Given the description of an element on the screen output the (x, y) to click on. 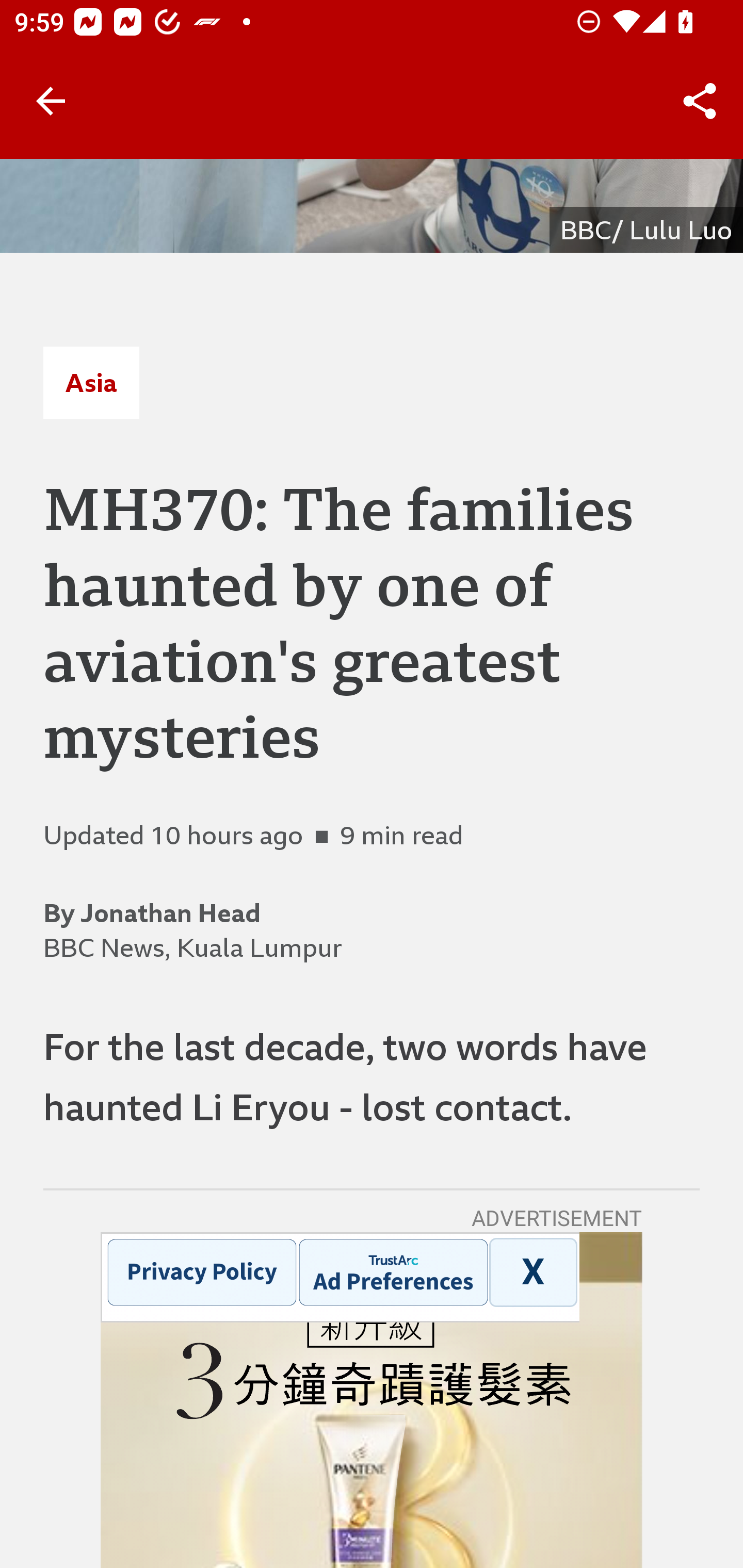
Back (50, 101)
Share (699, 101)
Asia (91, 382)
get?name=ta-btn-privacy (201, 1271)
get?name=btn-ad-preferences-2 (392, 1271)
X (532, 1271)
